Given the description of an element on the screen output the (x, y) to click on. 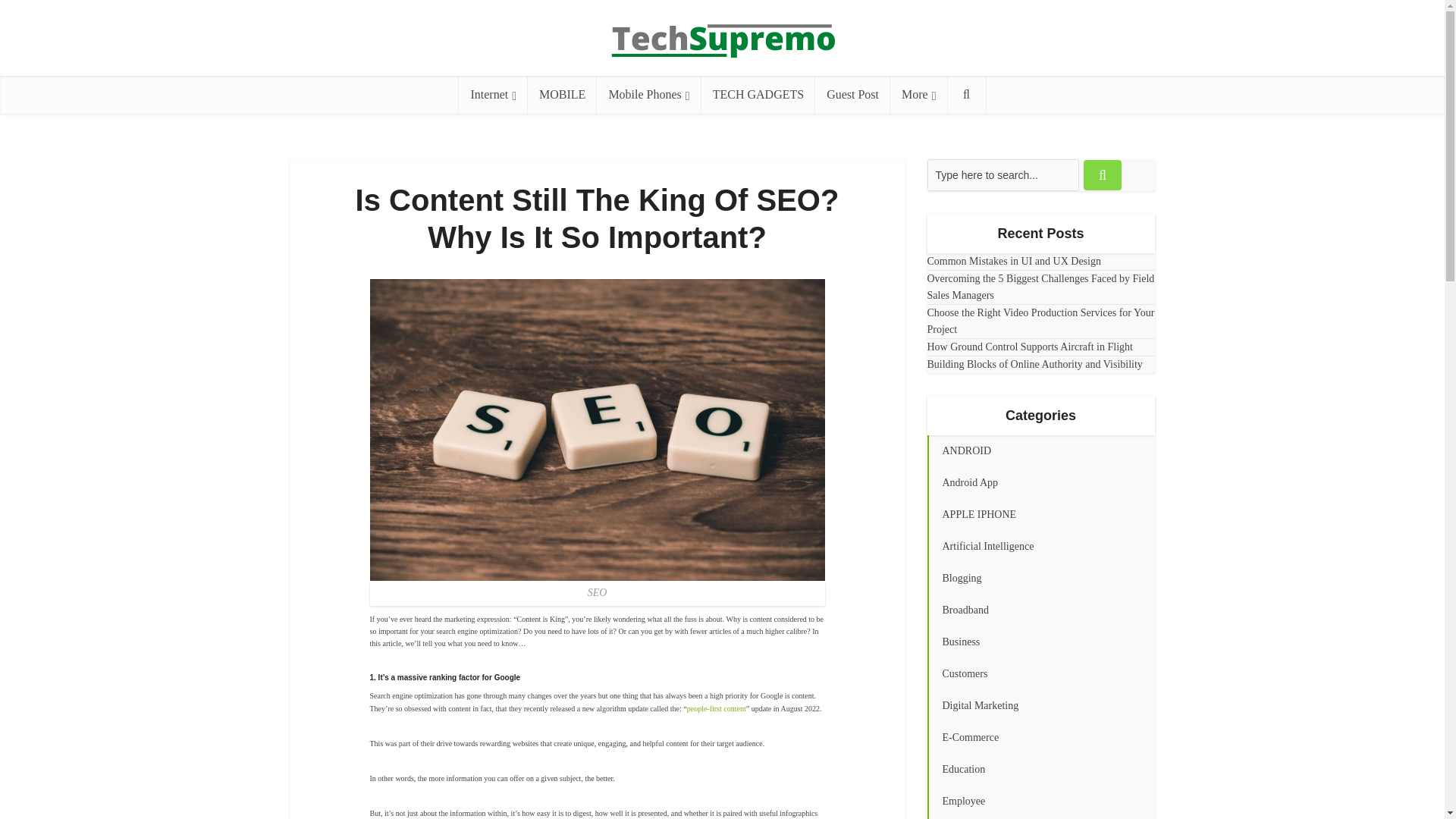
Mobile Phones (648, 94)
Type here to search... (1002, 174)
TECH GADGETS (758, 94)
people-first content (716, 708)
MOBILE (561, 94)
Internet (492, 94)
More (918, 94)
Type here to search... (1002, 174)
Guest Post (852, 94)
TechSupremo (721, 31)
